Given the description of an element on the screen output the (x, y) to click on. 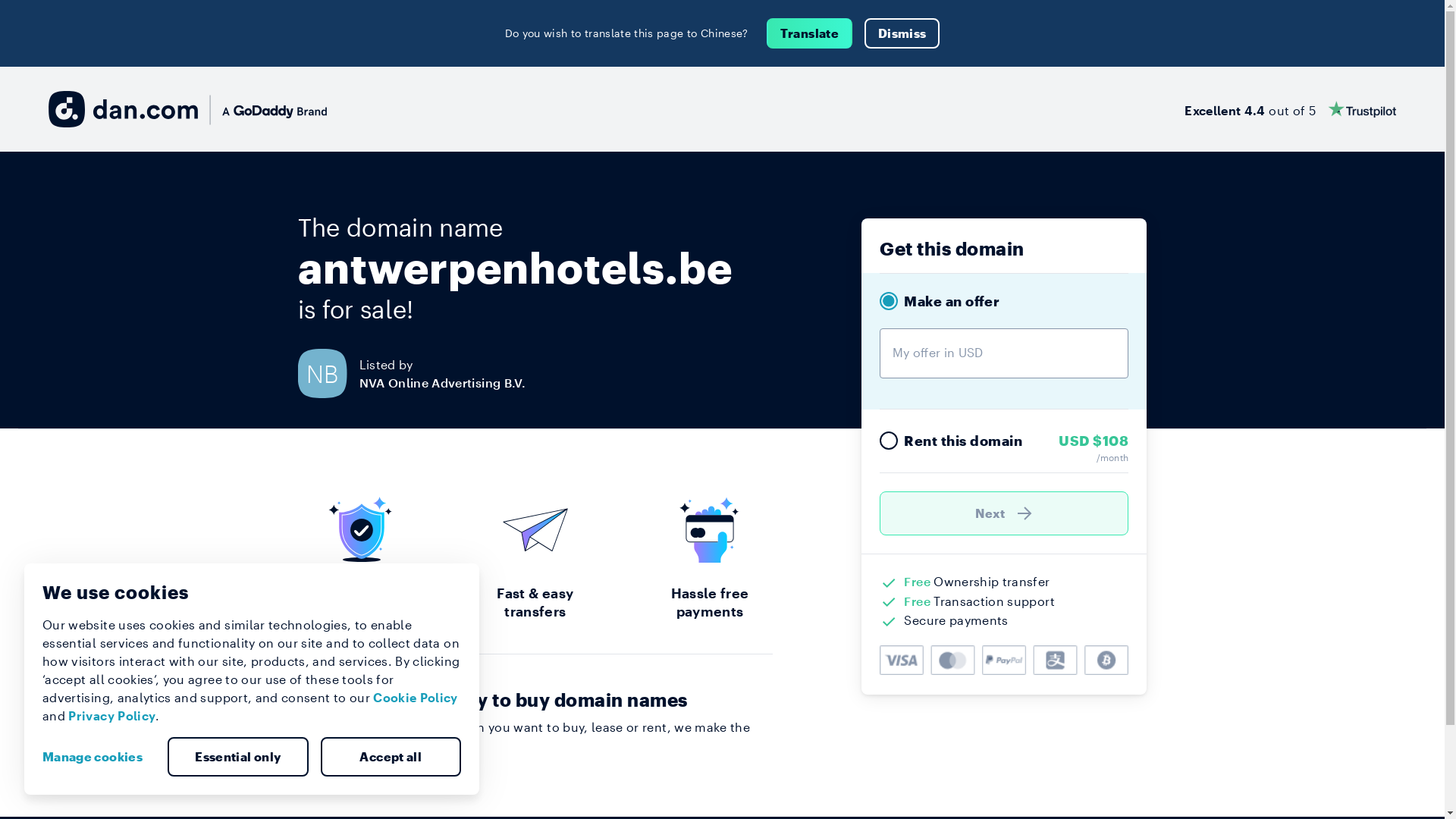
Cookie Policy Element type: text (415, 697)
Accept all Element type: text (390, 756)
Essential only Element type: text (237, 756)
Dismiss Element type: text (901, 33)
Next
) Element type: text (1003, 513)
Excellent 4.4 out of 5 Element type: text (1290, 109)
Translate Element type: text (809, 33)
Manage cookies Element type: text (98, 756)
Privacy Policy Element type: text (111, 715)
